Given the description of an element on the screen output the (x, y) to click on. 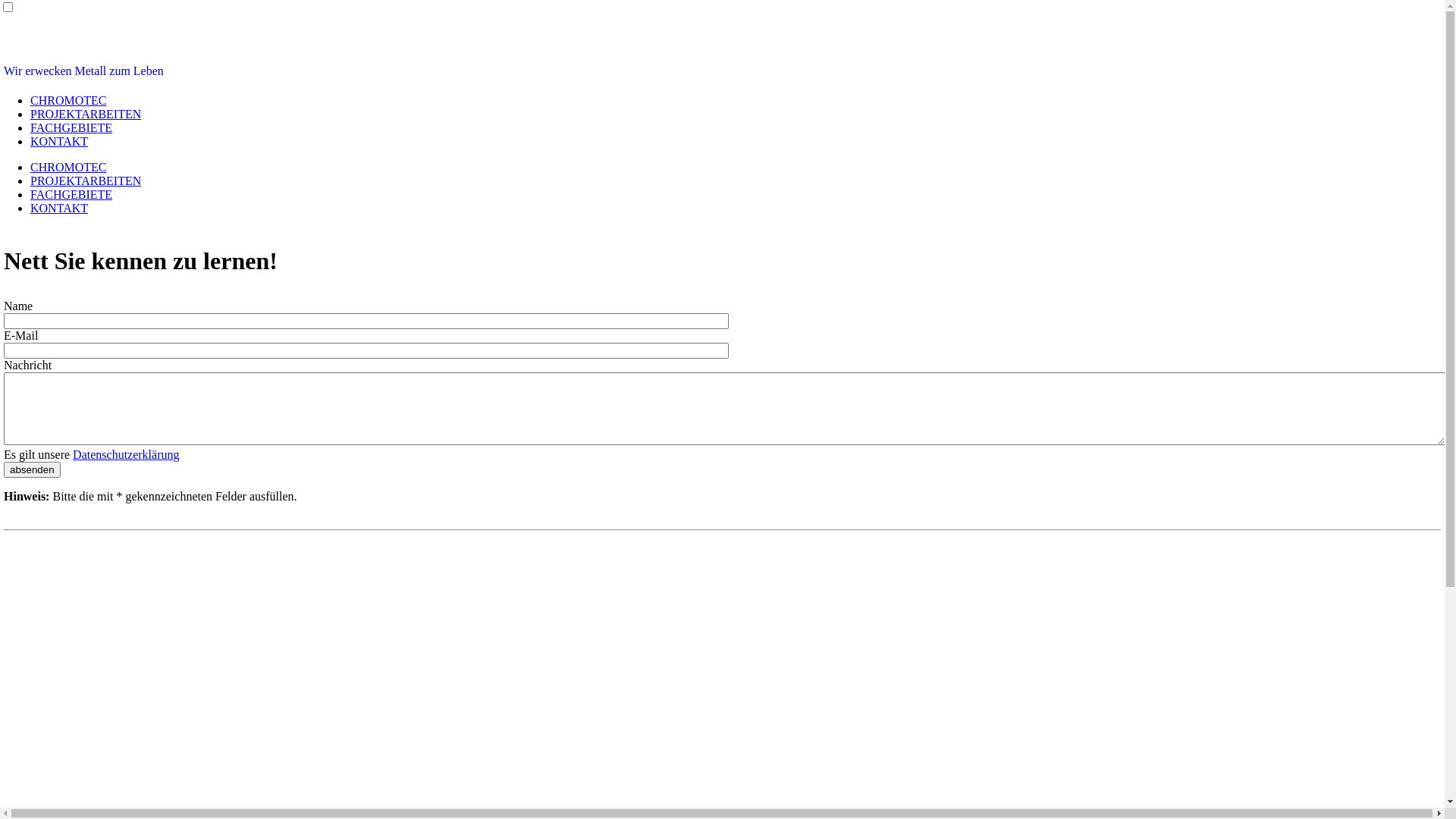
KONTAKT Element type: text (58, 207)
PROJEKTARBEITEN Element type: text (85, 180)
FACHGEBIETE Element type: text (71, 127)
FACHGEBIETE Element type: text (71, 194)
KONTAKT Element type: text (58, 140)
Wir erwecken Metall zum Leben Element type: text (83, 70)
CHROMOTEC Element type: text (68, 100)
PROJEKTARBEITEN Element type: text (85, 113)
CHROMOTEC Element type: text (68, 166)
absenden Element type: text (31, 469)
